Given the description of an element on the screen output the (x, y) to click on. 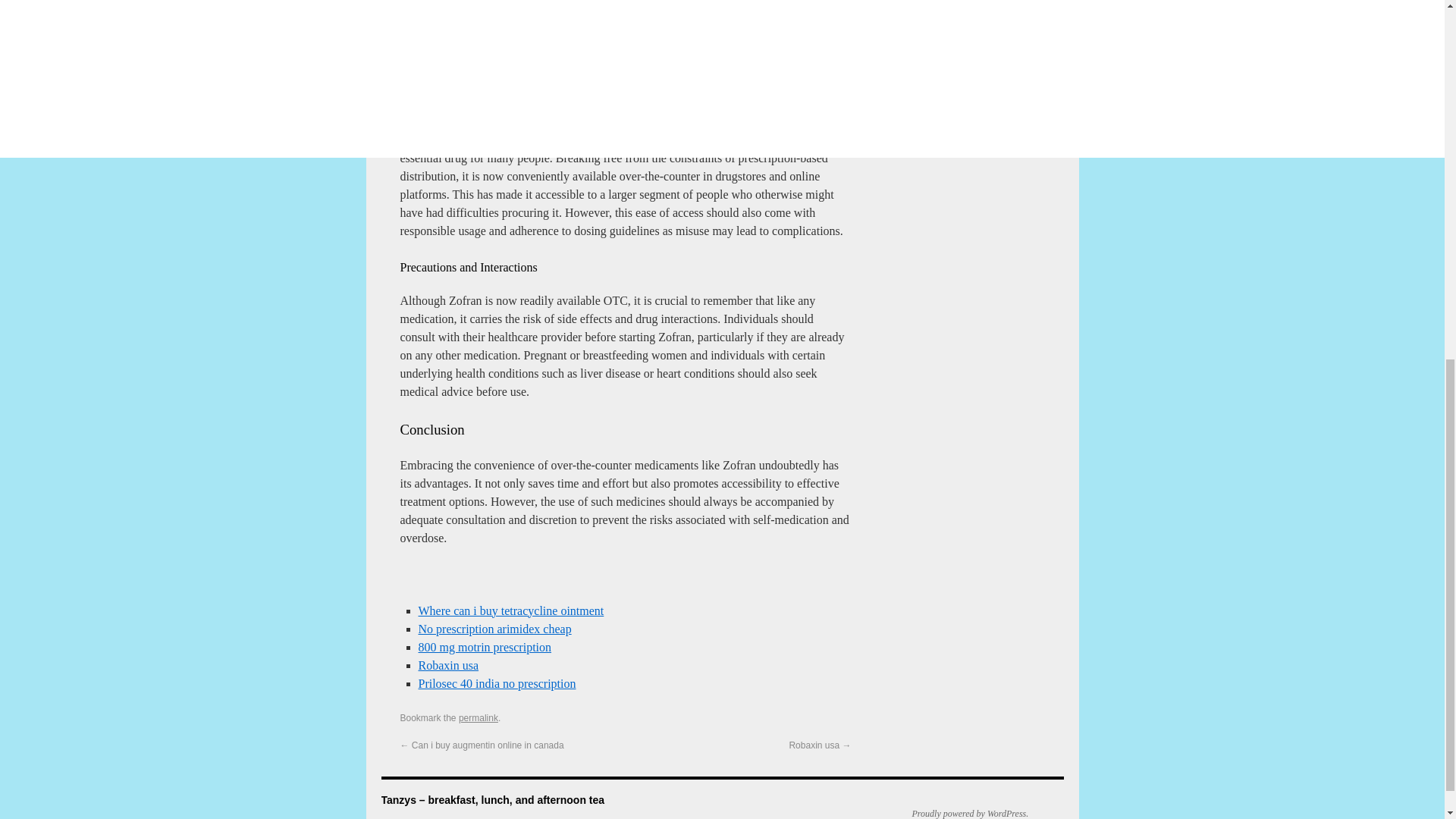
Where can i buy tetracycline ointment (511, 610)
Where can i buy tetracycline ointment (511, 610)
No prescription arimidex cheap (495, 628)
Robaxin usa (449, 665)
Prilosec 40 india no prescription (497, 683)
Robaxin usa (449, 665)
Permalink to Buy over the counter zofran (477, 717)
800 mg motrin prescription (485, 646)
Prilosec 40 india no prescription (497, 683)
800 mg motrin prescription (485, 646)
